Given the description of an element on the screen output the (x, y) to click on. 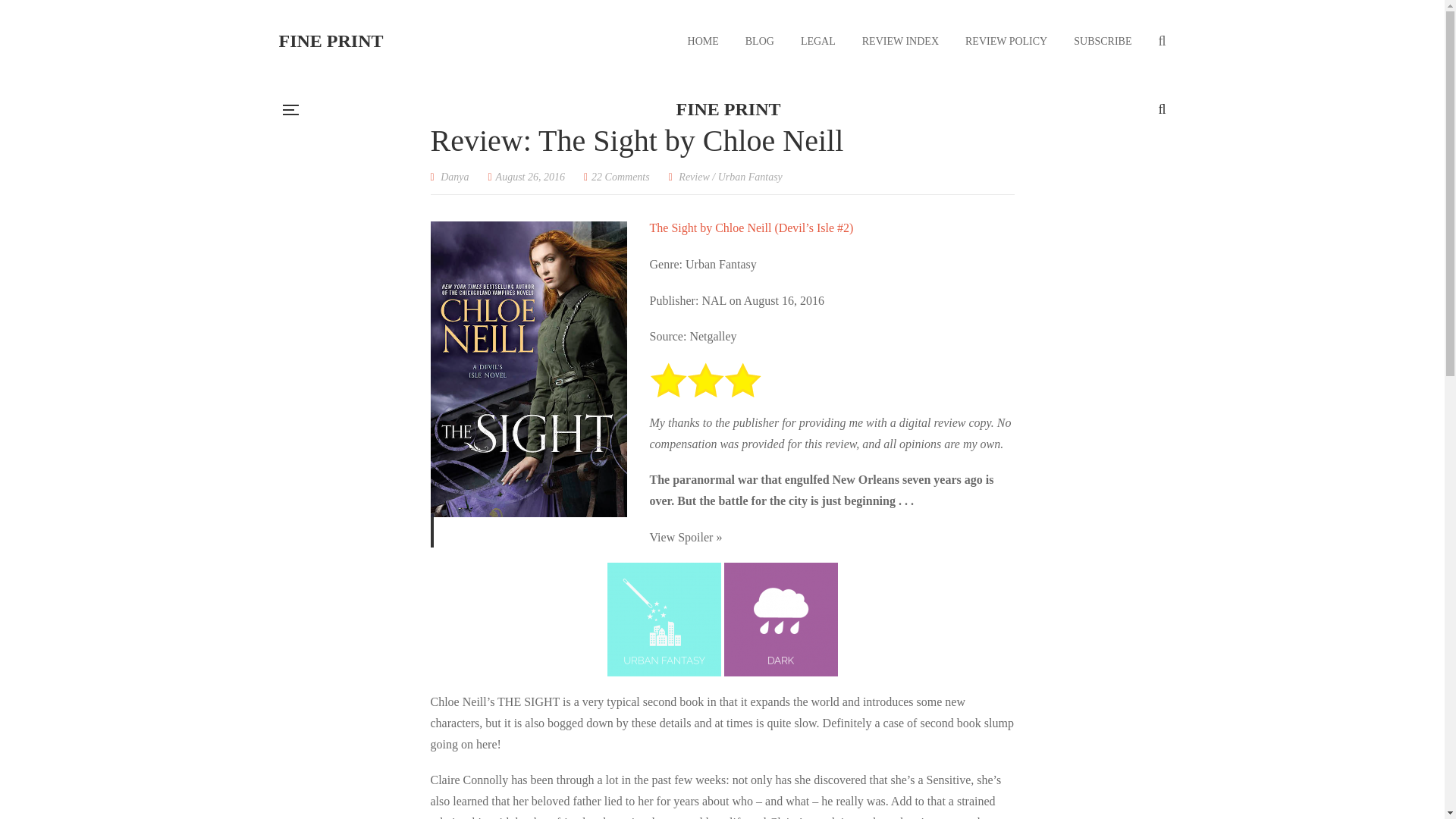
Browse Author Articles (449, 176)
REVIEW INDEX (900, 41)
SUBSCRIBE (1102, 41)
HOME (703, 41)
Urban Fantasy (750, 176)
Review: The Sight by Chloe Neill (525, 176)
Danya (449, 176)
FINE PRINT (331, 40)
Review (693, 176)
Fine Print-fantasy, graphic novels, and more (727, 109)
22 Comments (616, 176)
LEGAL (817, 41)
REVIEW POLICY (1005, 41)
August 26, 2016 (525, 176)
Fine Print-fantasy, graphic novels, and more (331, 40)
